Given the description of an element on the screen output the (x, y) to click on. 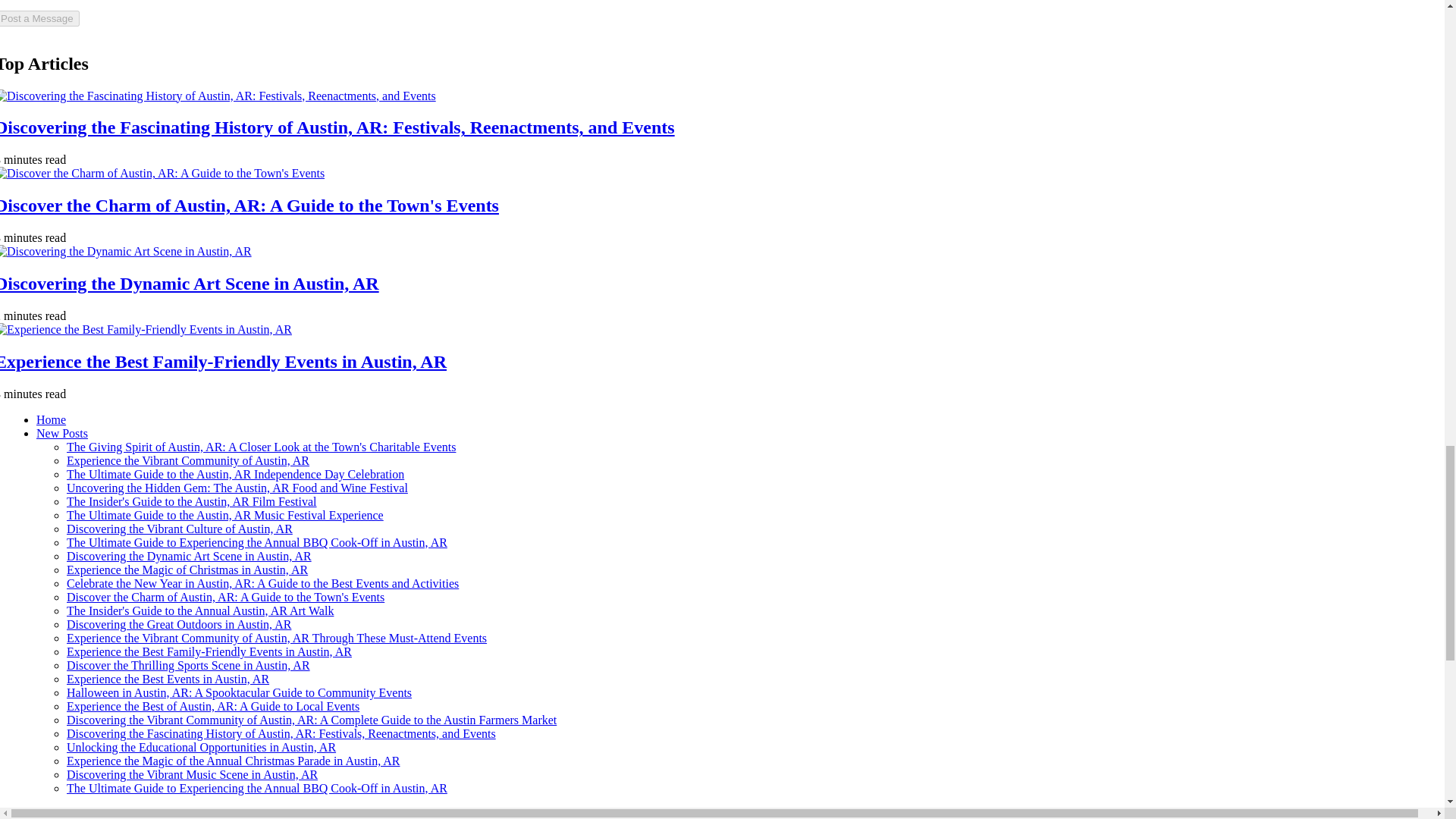
Experience the Best Family-Friendly Events in Austin, AR (223, 361)
Post a Message (40, 18)
Discovering the Dynamic Art Scene in Austin, AR (189, 283)
New Posts (61, 432)
